Given the description of an element on the screen output the (x, y) to click on. 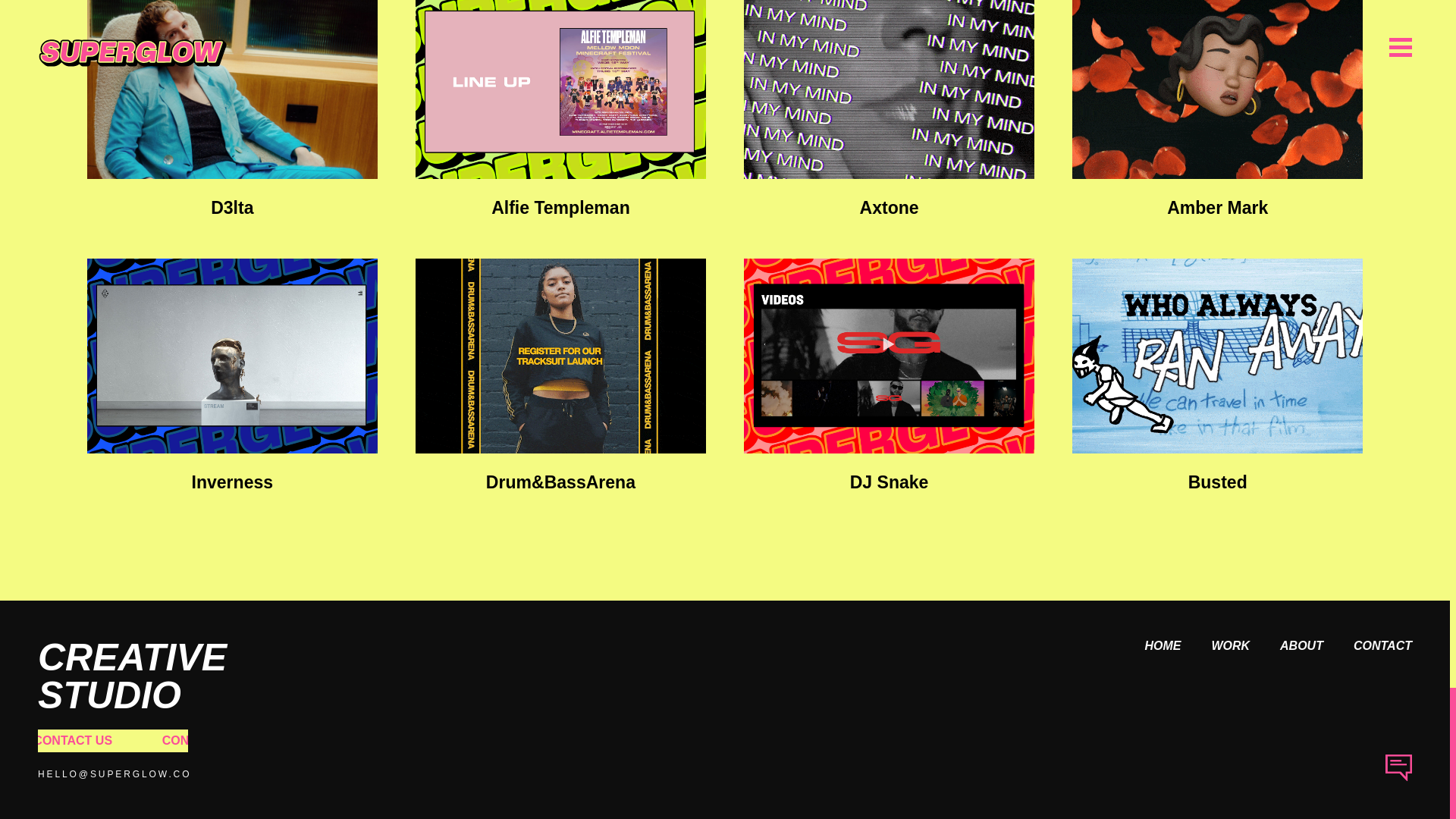
Inverness (232, 355)
ABOUT (1286, 645)
WORK (1214, 645)
HOME (1146, 645)
CONTACT (1367, 645)
D3lta (232, 89)
Alfie Templeman (560, 89)
Amber Mark (1216, 89)
Axtone (888, 89)
DJ Snake (888, 355)
Busted (1216, 355)
